Given the description of an element on the screen output the (x, y) to click on. 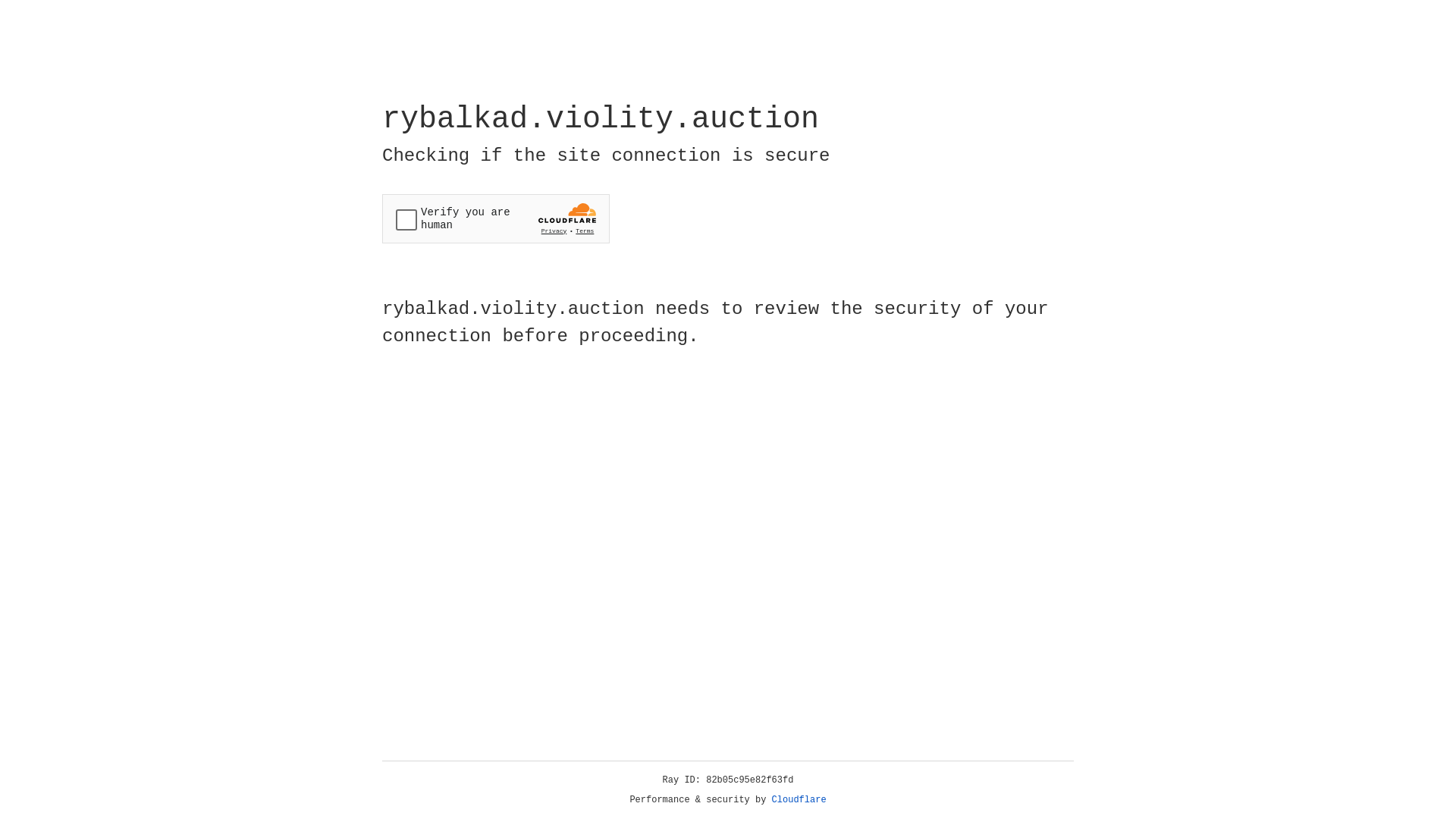
Cloudflare Element type: text (798, 799)
Widget containing a Cloudflare security challenge Element type: hover (495, 218)
